Given the description of an element on the screen output the (x, y) to click on. 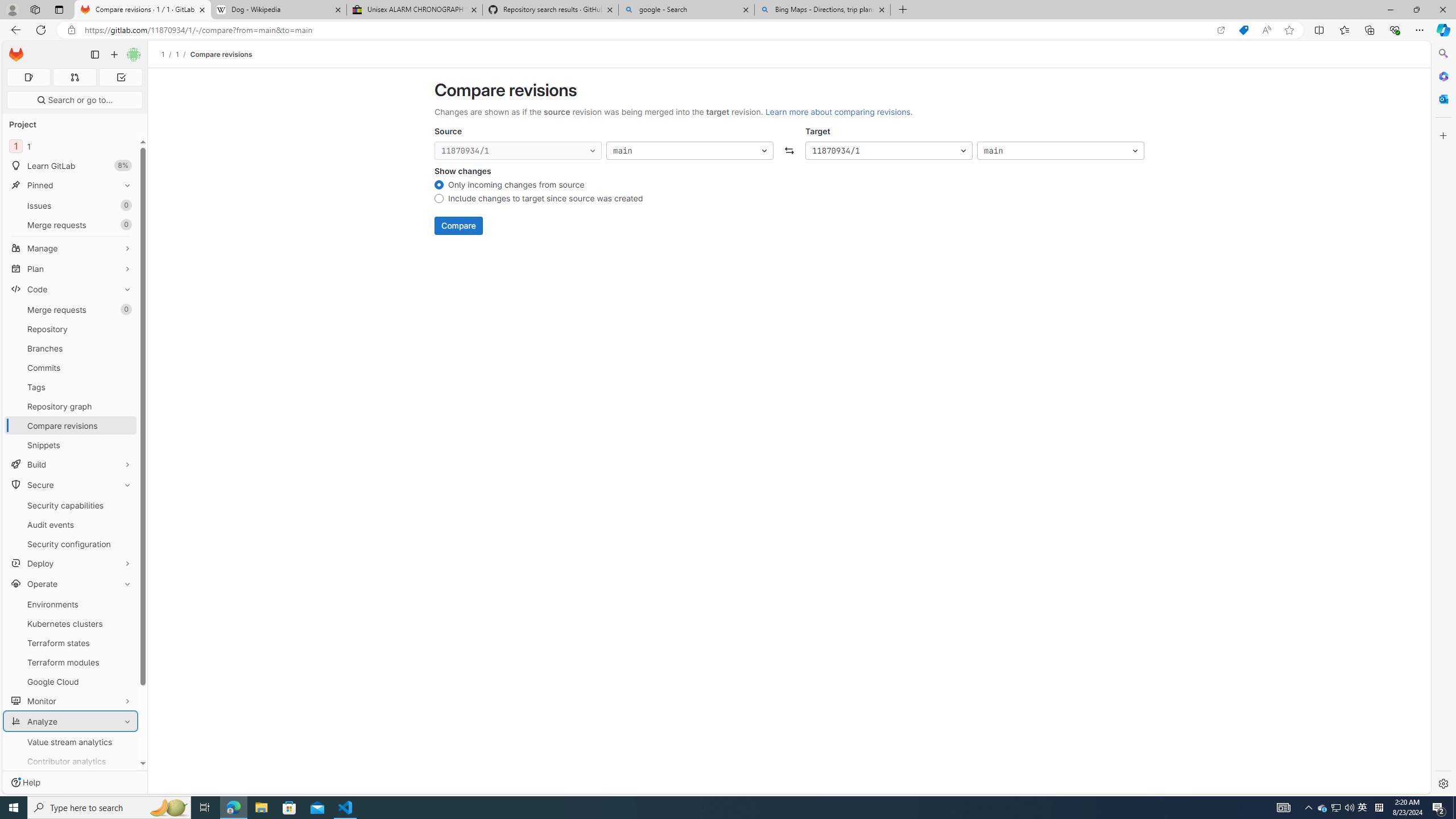
Deploy (70, 562)
Branches (70, 348)
Repository (70, 328)
To-Do list 0 (120, 76)
Side bar (1443, 418)
Commits (70, 367)
Pin Security capabilities (124, 504)
